Given the description of an element on the screen output the (x, y) to click on. 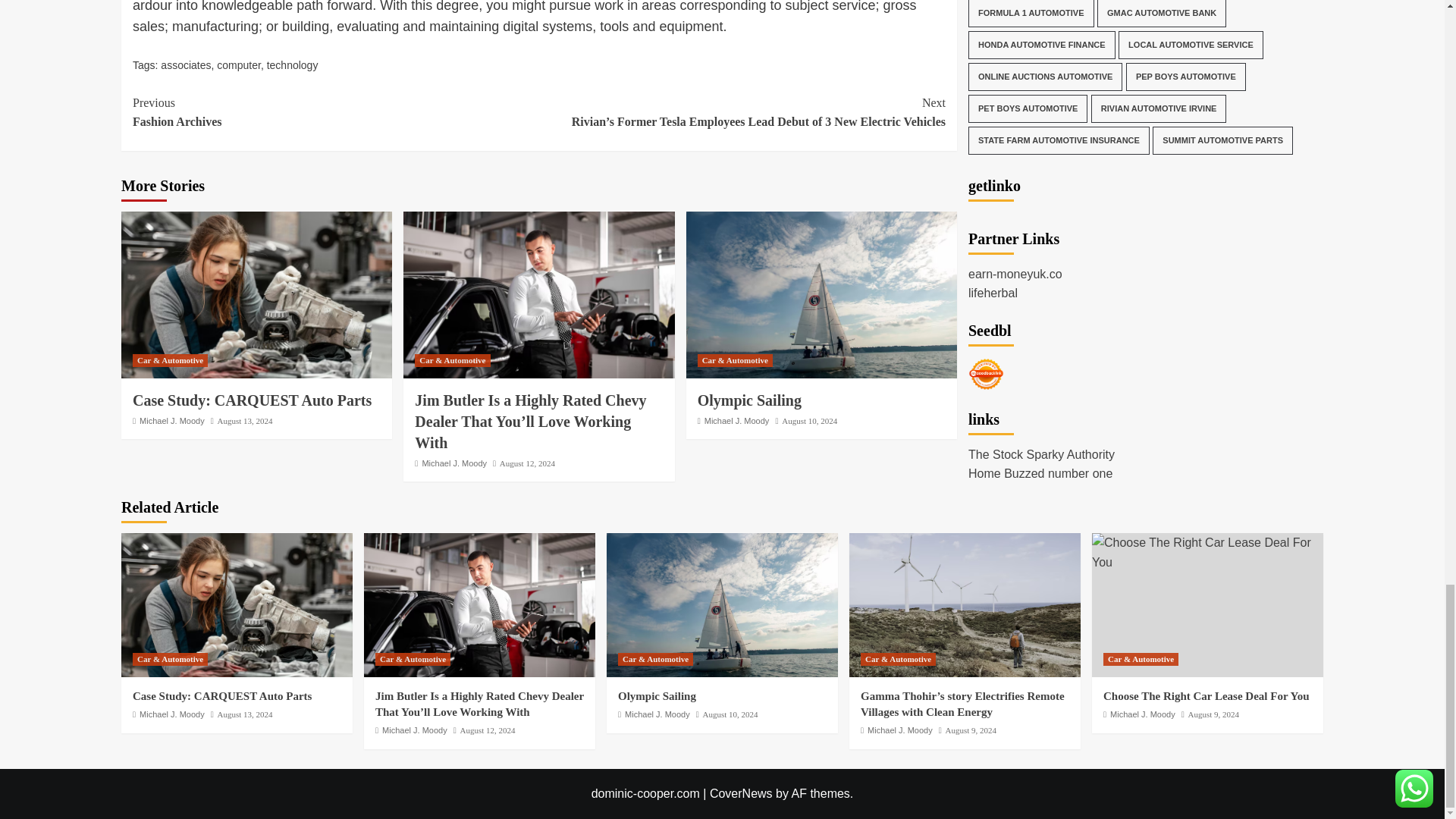
Case Study: CARQUEST Auto Parts (255, 294)
associates (185, 64)
Olympic Sailing (820, 294)
